Given the description of an element on the screen output the (x, y) to click on. 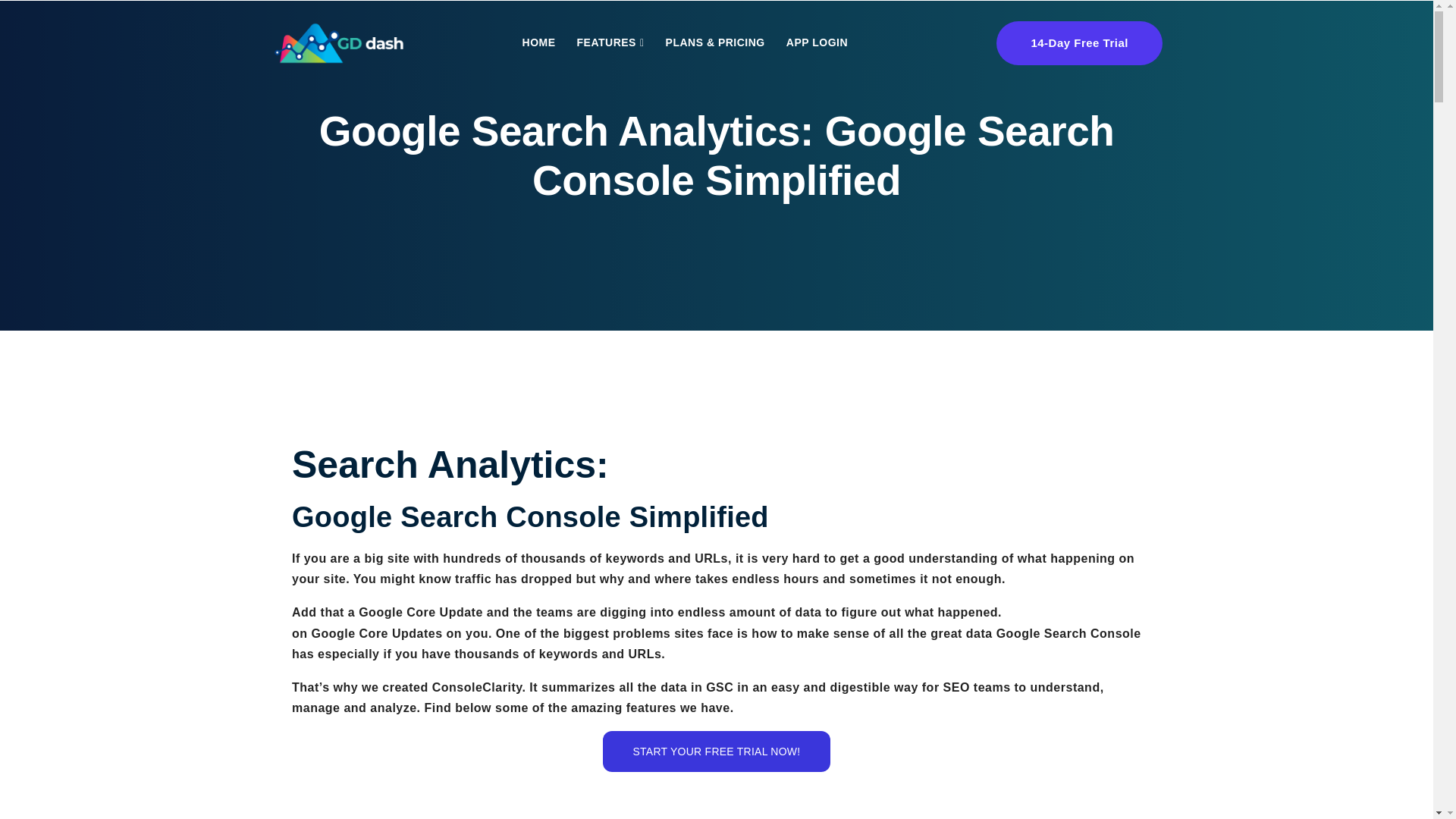
Features (610, 42)
FEATURES (610, 42)
App Login (817, 41)
14-Day Free Trial (1078, 43)
START YOUR FREE TRIAL NOW! (716, 751)
APP LOGIN (817, 41)
